Given the description of an element on the screen output the (x, y) to click on. 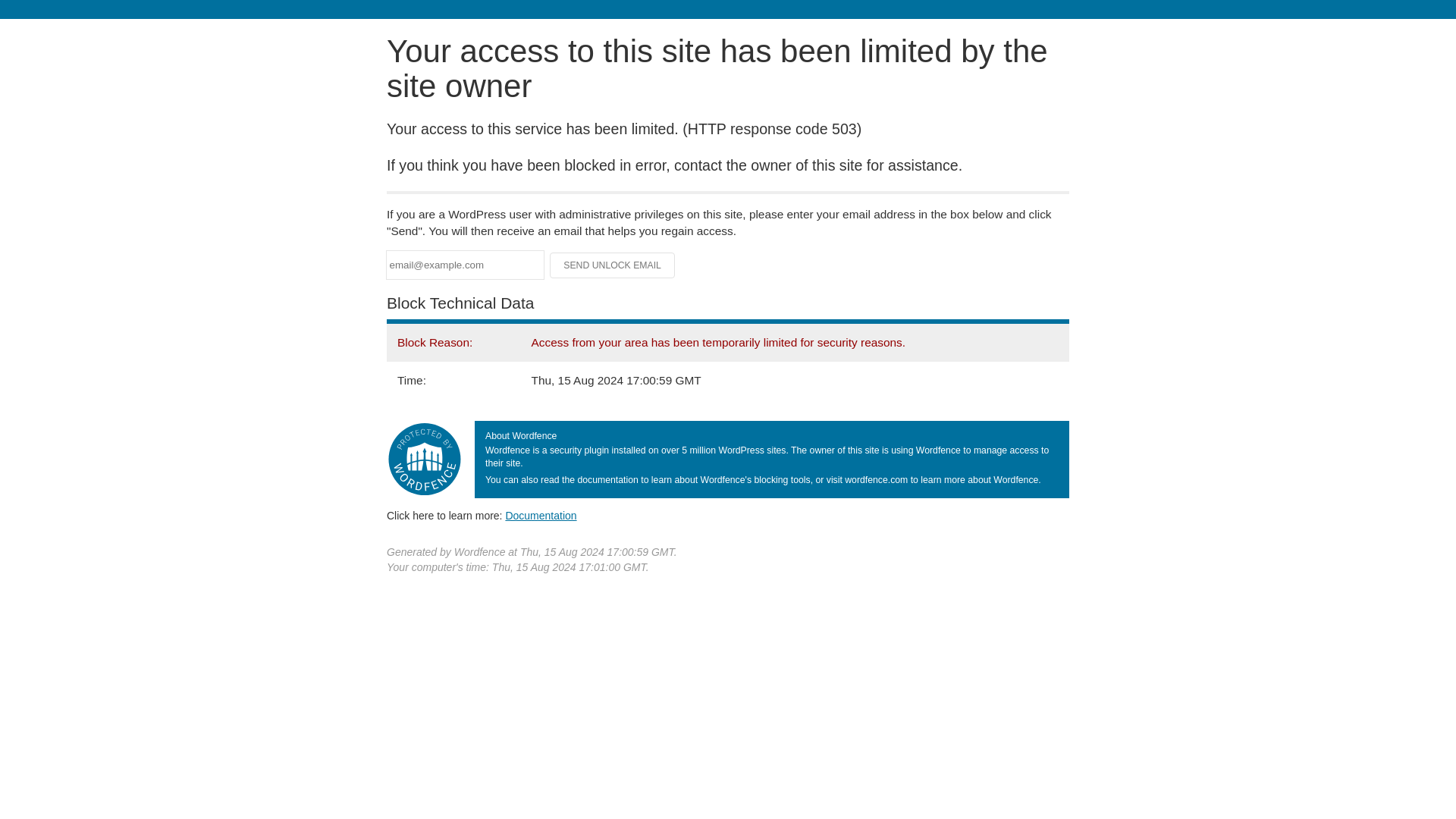
Documentation (540, 515)
Send Unlock Email (612, 265)
Send Unlock Email (612, 265)
